Given the description of an element on the screen output the (x, y) to click on. 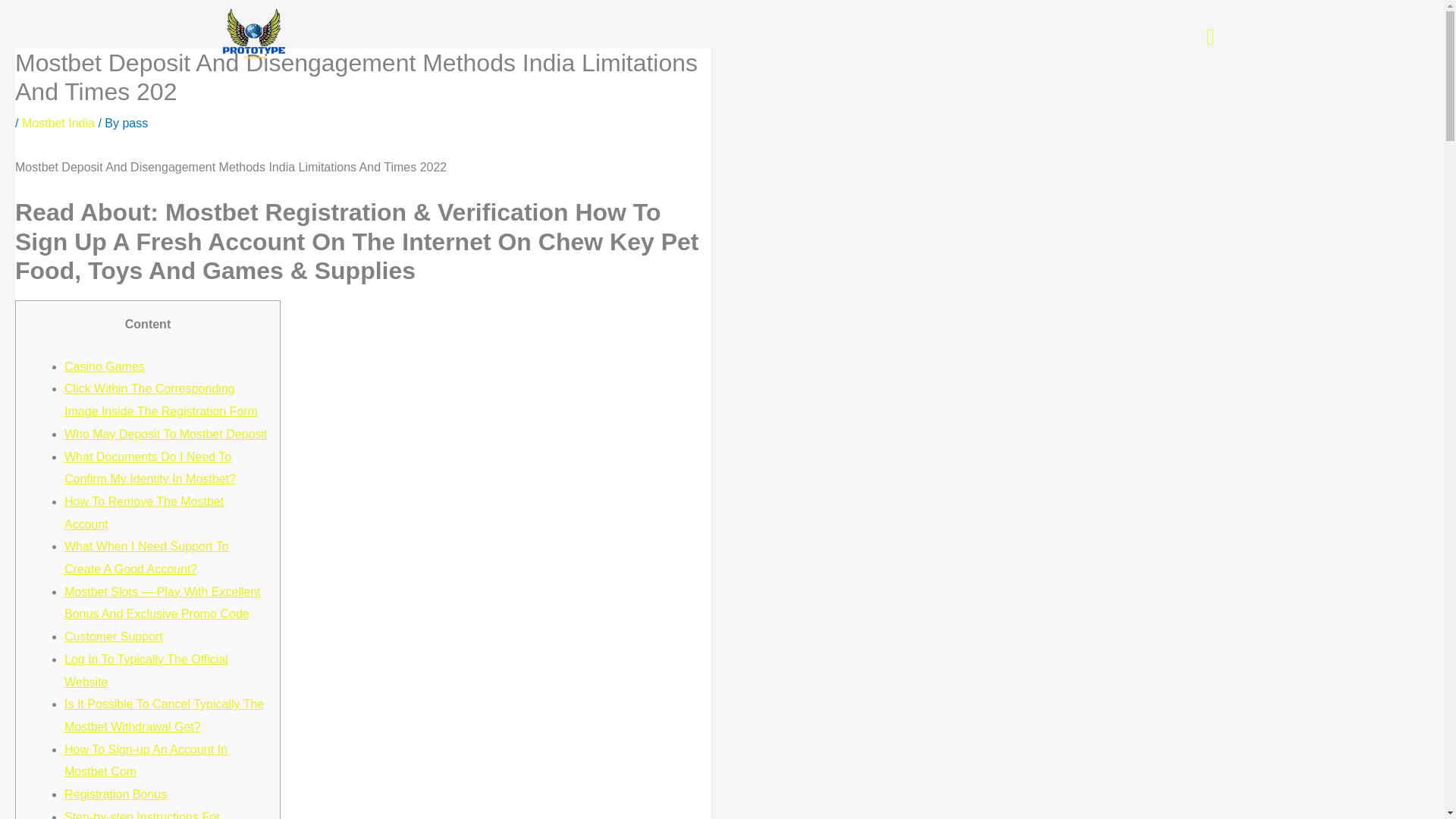
Who May Deposit To Mostbet Deposit (165, 433)
Mostbet India (57, 123)
What When I Need Support To Create A Good Account? (146, 557)
Log In To Typically The Official Website (146, 670)
Registration Bonus (115, 793)
pass (135, 123)
Casino Games (104, 366)
View all posts by pass (135, 123)
How To Remove The Mostbet Account (144, 512)
